Given the description of an element on the screen output the (x, y) to click on. 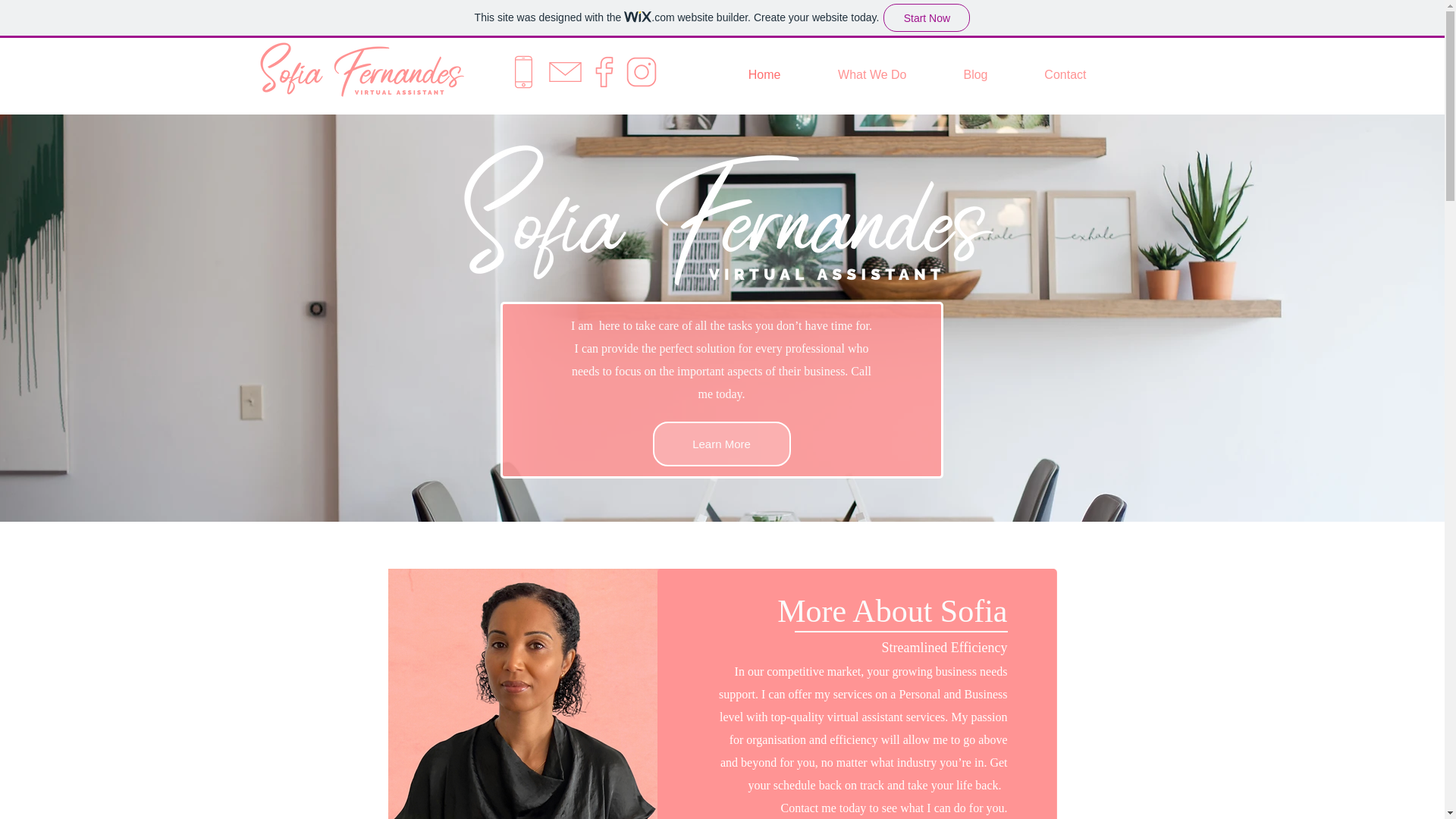
What We Do (851, 75)
Blog (954, 75)
Learn More (721, 443)
Home (742, 75)
Contact (1043, 75)
